Given the description of an element on the screen output the (x, y) to click on. 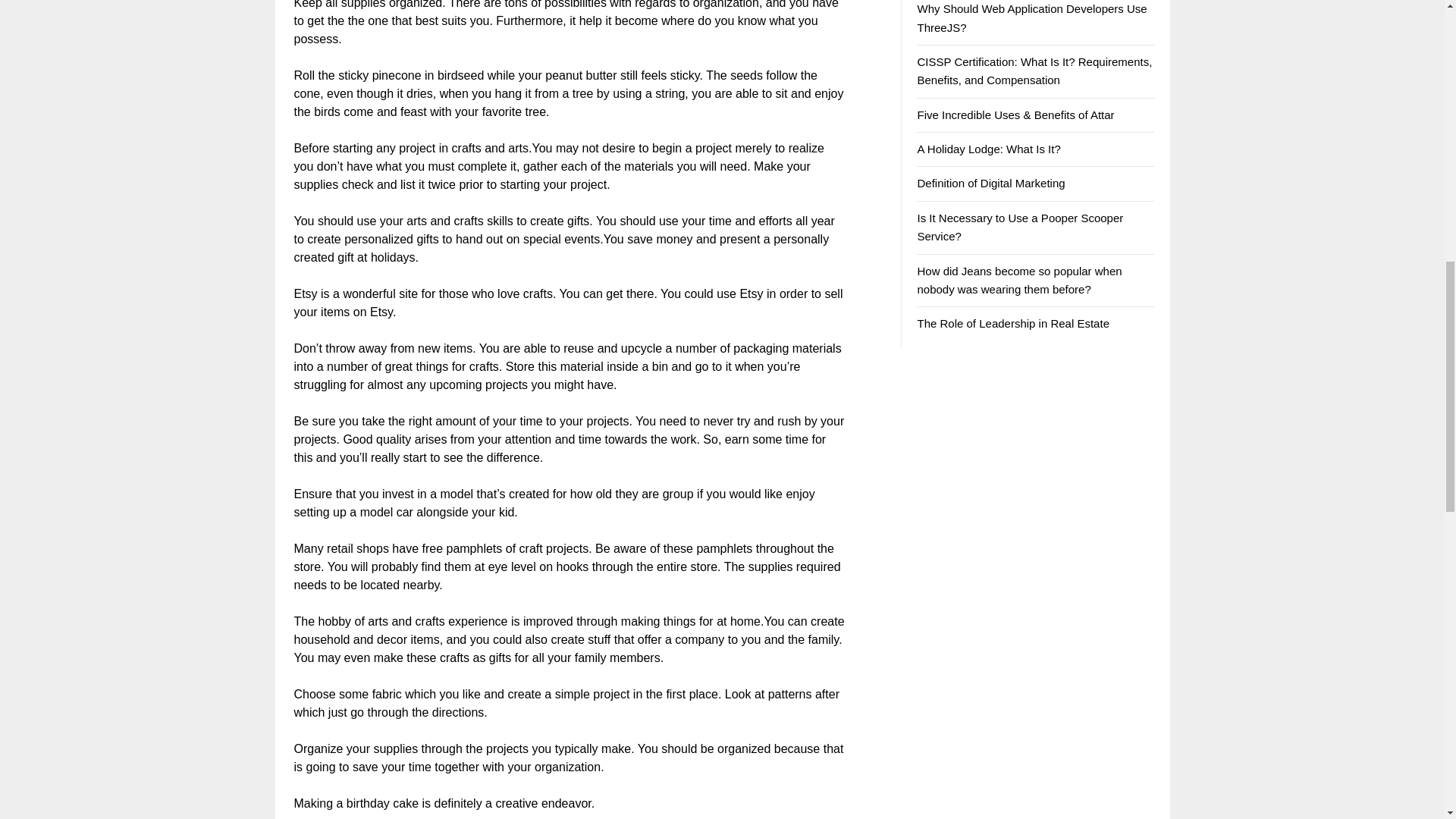
Is It Necessary to Use a Pooper Scooper Service? (1019, 226)
The Role of Leadership in Real Estate (1012, 323)
Definition of Digital Marketing (990, 182)
A Holiday Lodge: What Is It? (988, 148)
Why Should Web Application Developers Use ThreeJS? (1032, 17)
